Given the description of an element on the screen output the (x, y) to click on. 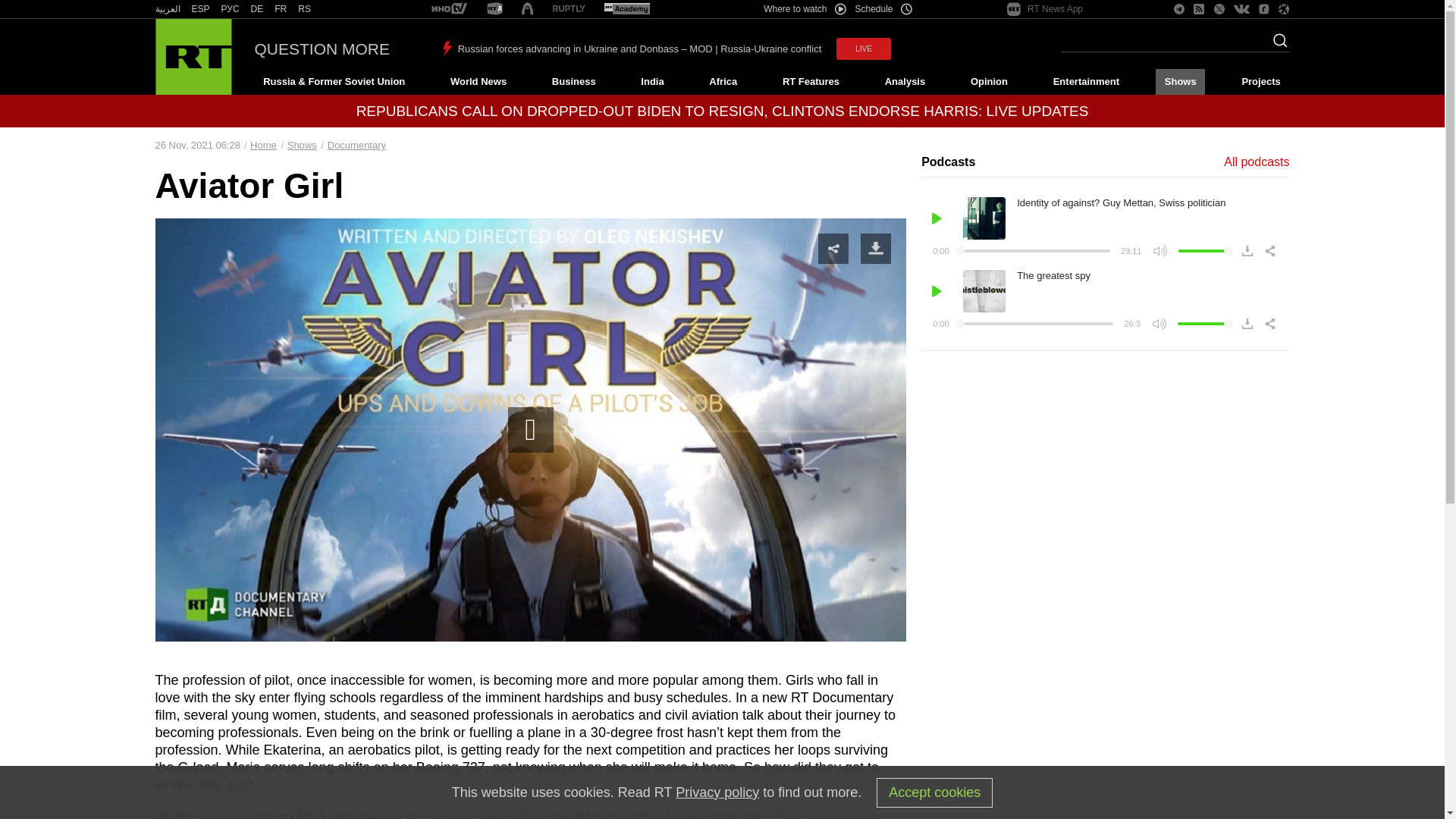
ESP (199, 9)
RT Features (810, 81)
RT  (569, 8)
LIVE (863, 48)
FR (280, 9)
Analysis (905, 81)
Africa (722, 81)
Schedule (884, 9)
RT News App (1045, 9)
Search (1276, 44)
RS (304, 9)
RT  (626, 9)
RT  (199, 9)
Search (1276, 44)
India (651, 81)
